Given the description of an element on the screen output the (x, y) to click on. 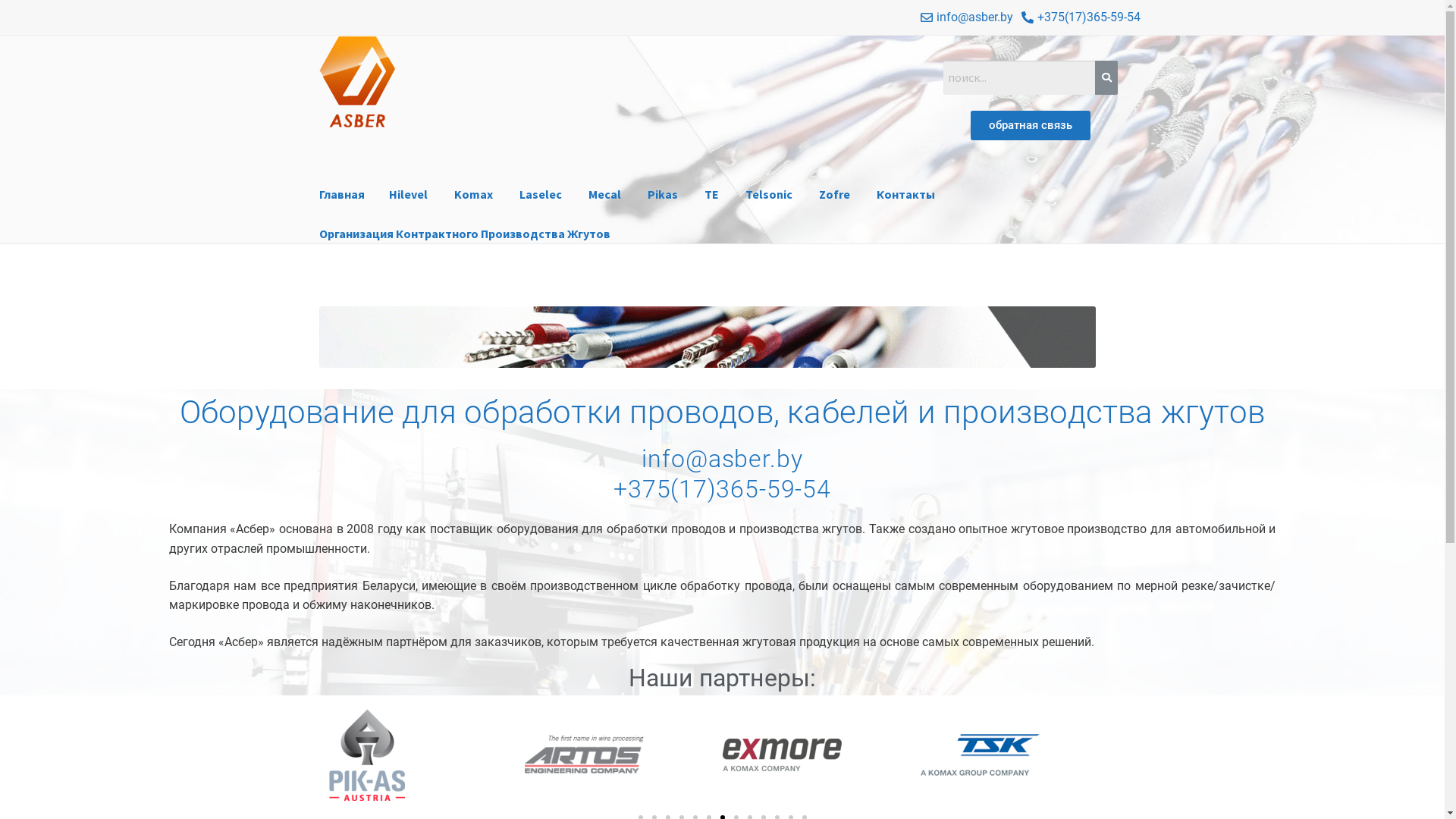
TE Element type: text (711, 194)
Zofre Element type: text (834, 194)
Laselec Element type: text (540, 194)
Pikas Element type: text (662, 194)
info@asber.by Element type: text (722, 458)
Komax Element type: text (473, 194)
Search Element type: hover (1019, 77)
+375(17)365-59-54 Element type: text (722, 488)
Hilevel Element type: text (407, 194)
Mecal Element type: text (604, 194)
Telsonic Element type: text (768, 194)
